Given the description of an element on the screen output the (x, y) to click on. 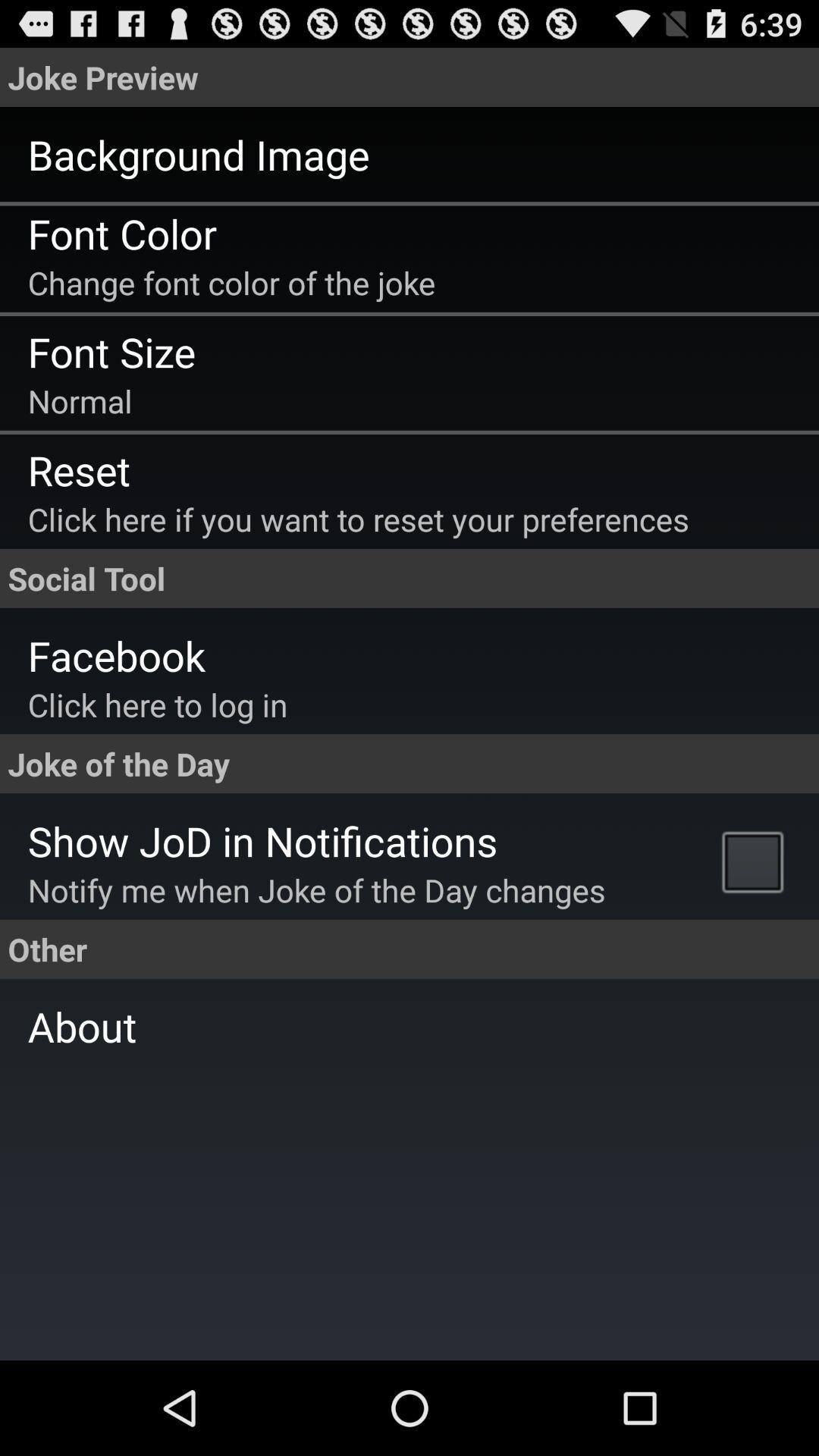
launch the item to the right of the notify me when app (756, 860)
